Given the description of an element on the screen output the (x, y) to click on. 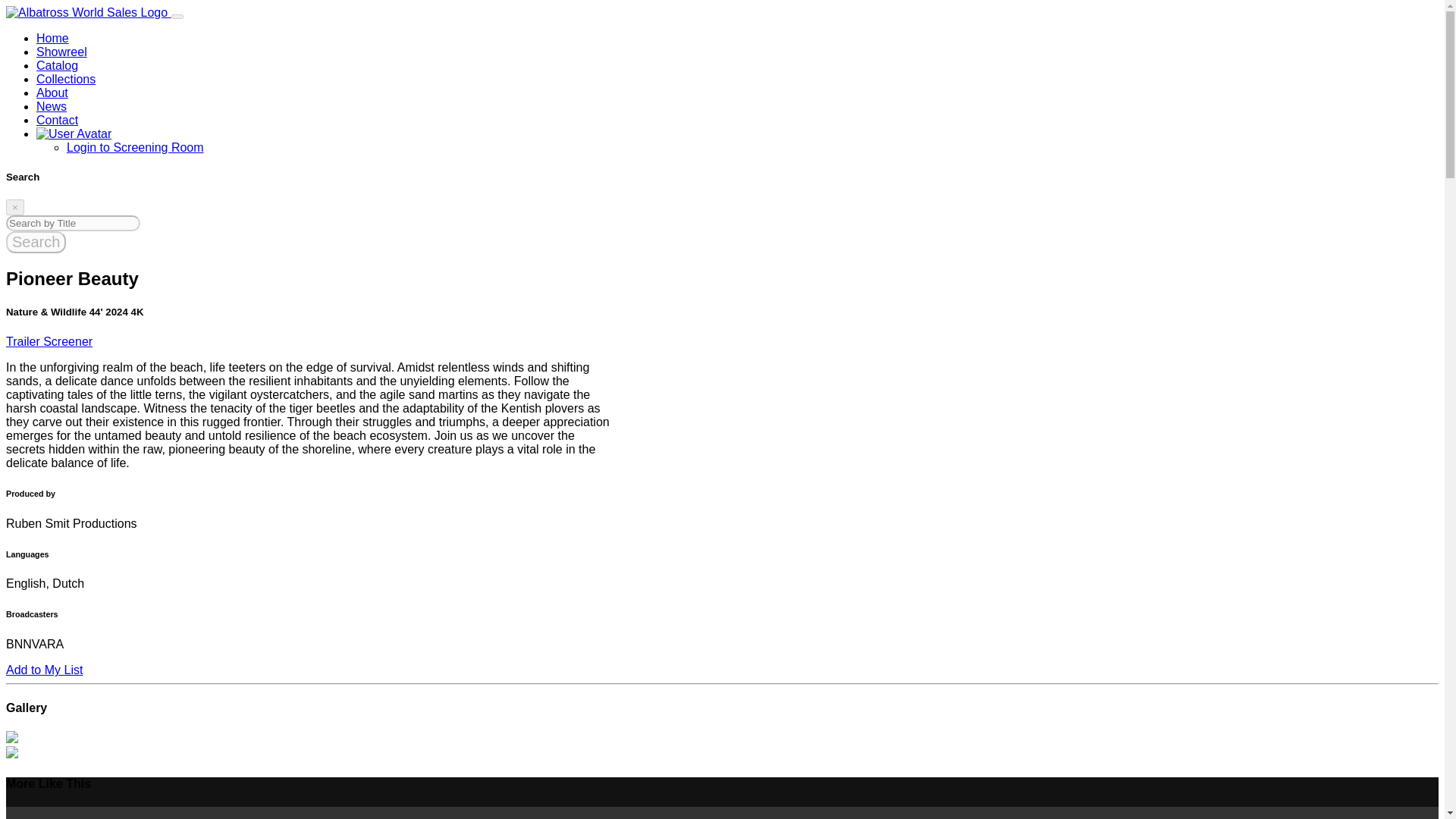
Contact (57, 119)
Home (52, 38)
Showreel (61, 51)
Collections (66, 78)
Add to My List (43, 669)
Trailer (24, 341)
Search (35, 241)
Screener (68, 341)
About (52, 92)
Login to Screening Room (134, 146)
Catalog (57, 65)
News (51, 106)
